Given the description of an element on the screen output the (x, y) to click on. 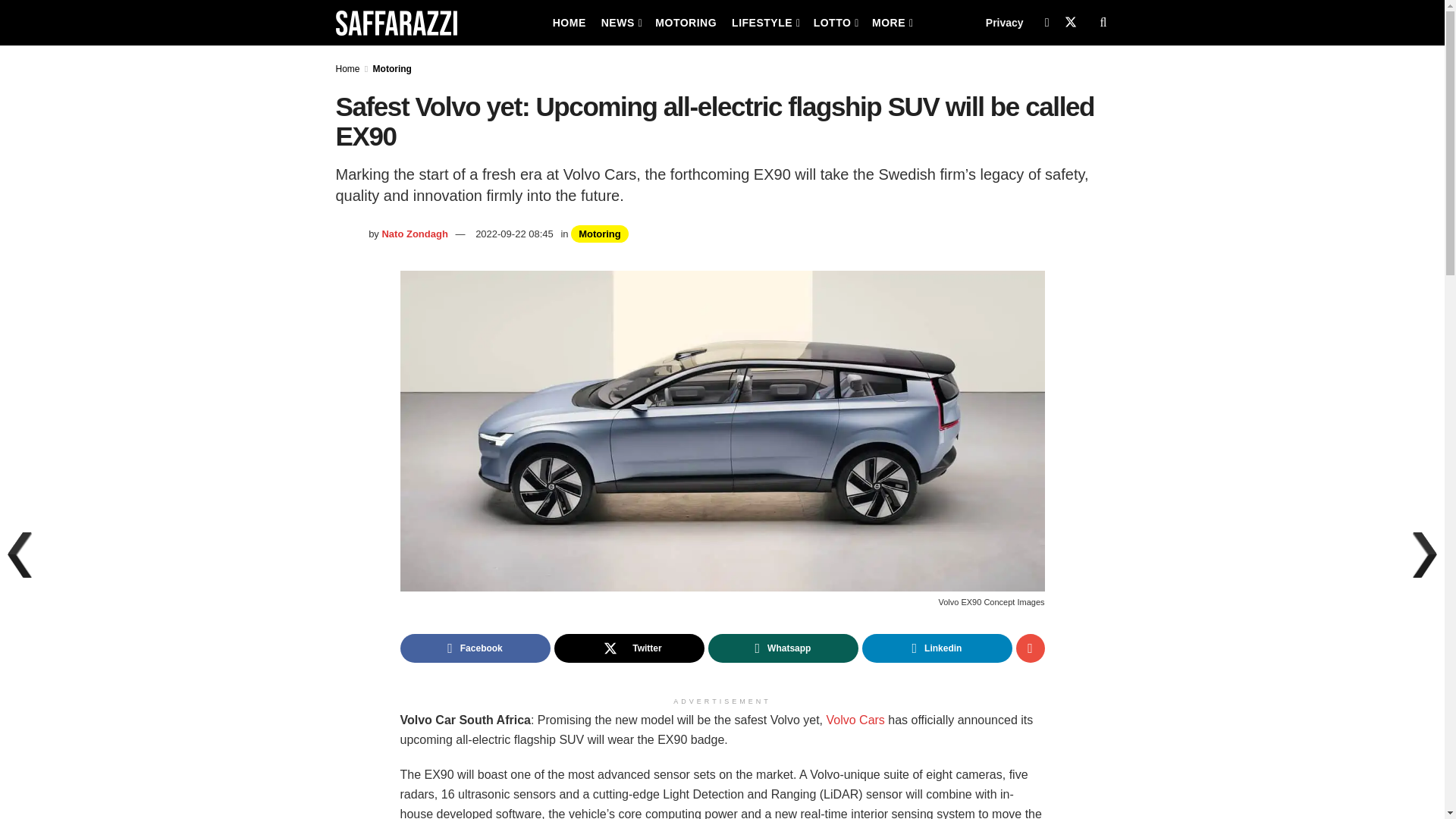
LIFESTYLE (764, 22)
MORE (891, 22)
HOME (569, 22)
NEWS (620, 22)
MOTORING (685, 22)
LOTTO (835, 22)
